Given the description of an element on the screen output the (x, y) to click on. 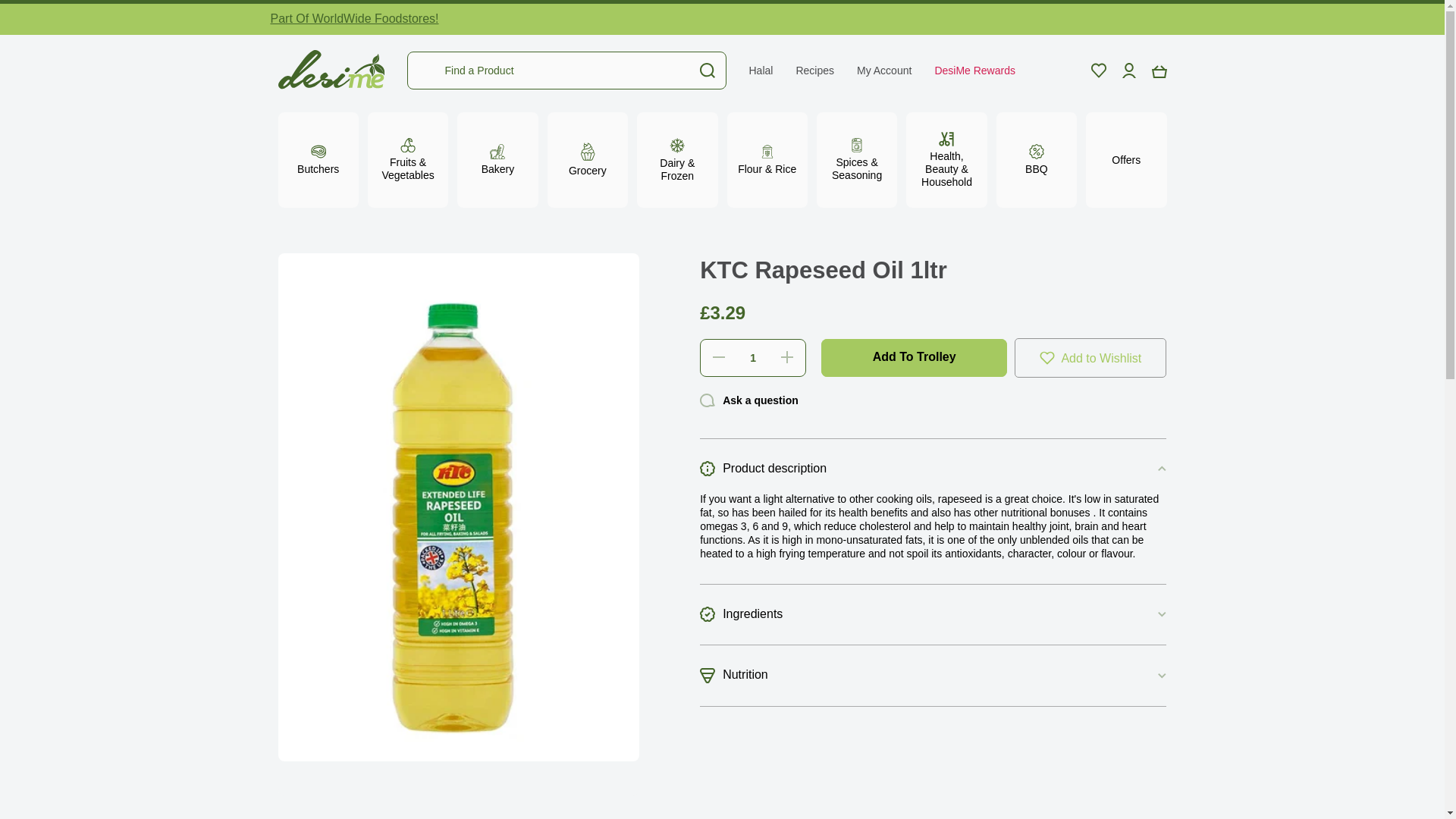
1 (753, 357)
Part Of WorldWide Foodstores! (353, 18)
